Given the description of an element on the screen output the (x, y) to click on. 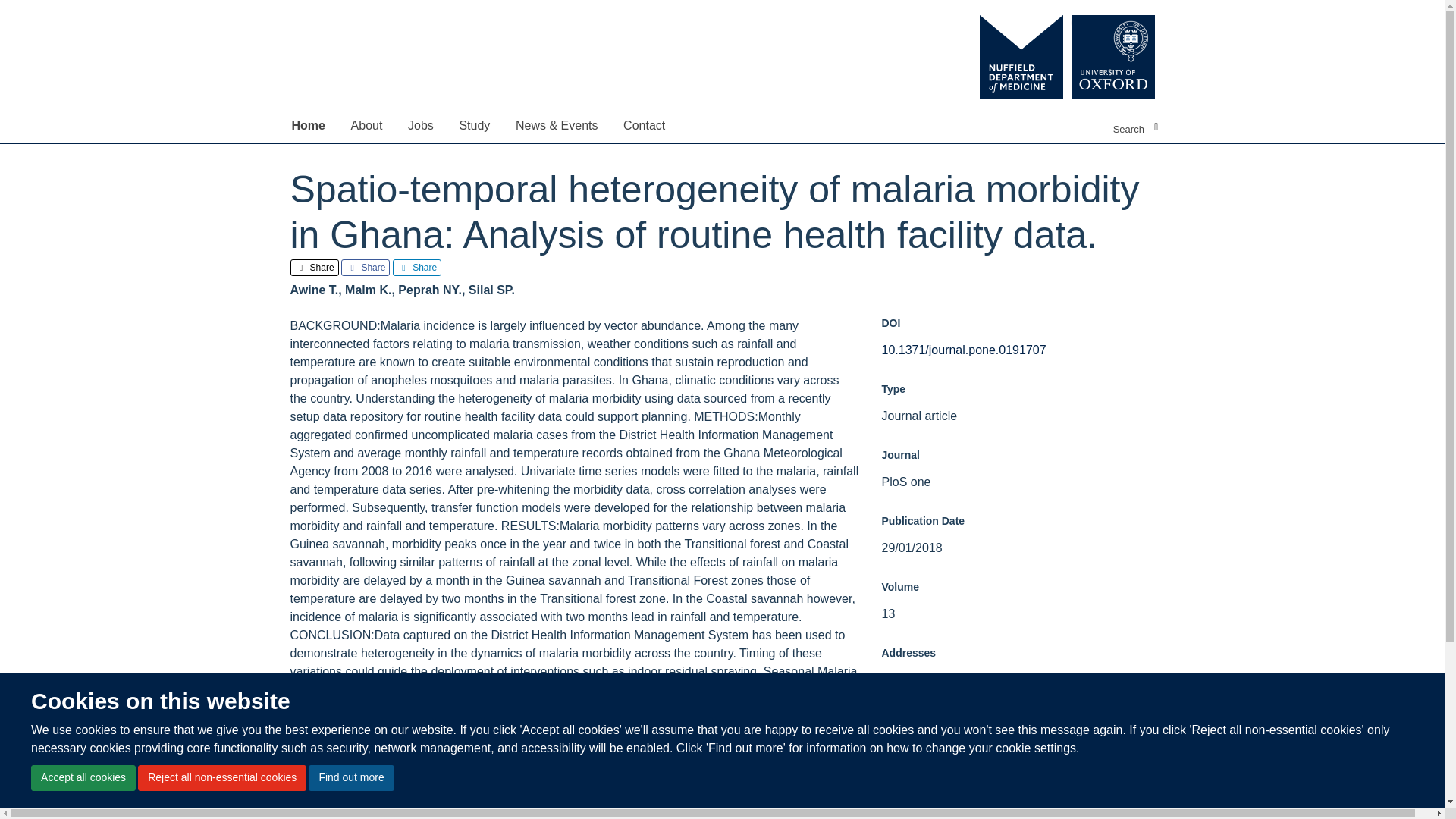
Find out more (350, 777)
Reject all non-essential cookies (221, 777)
Accept all cookies (82, 777)
